Given the description of an element on the screen output the (x, y) to click on. 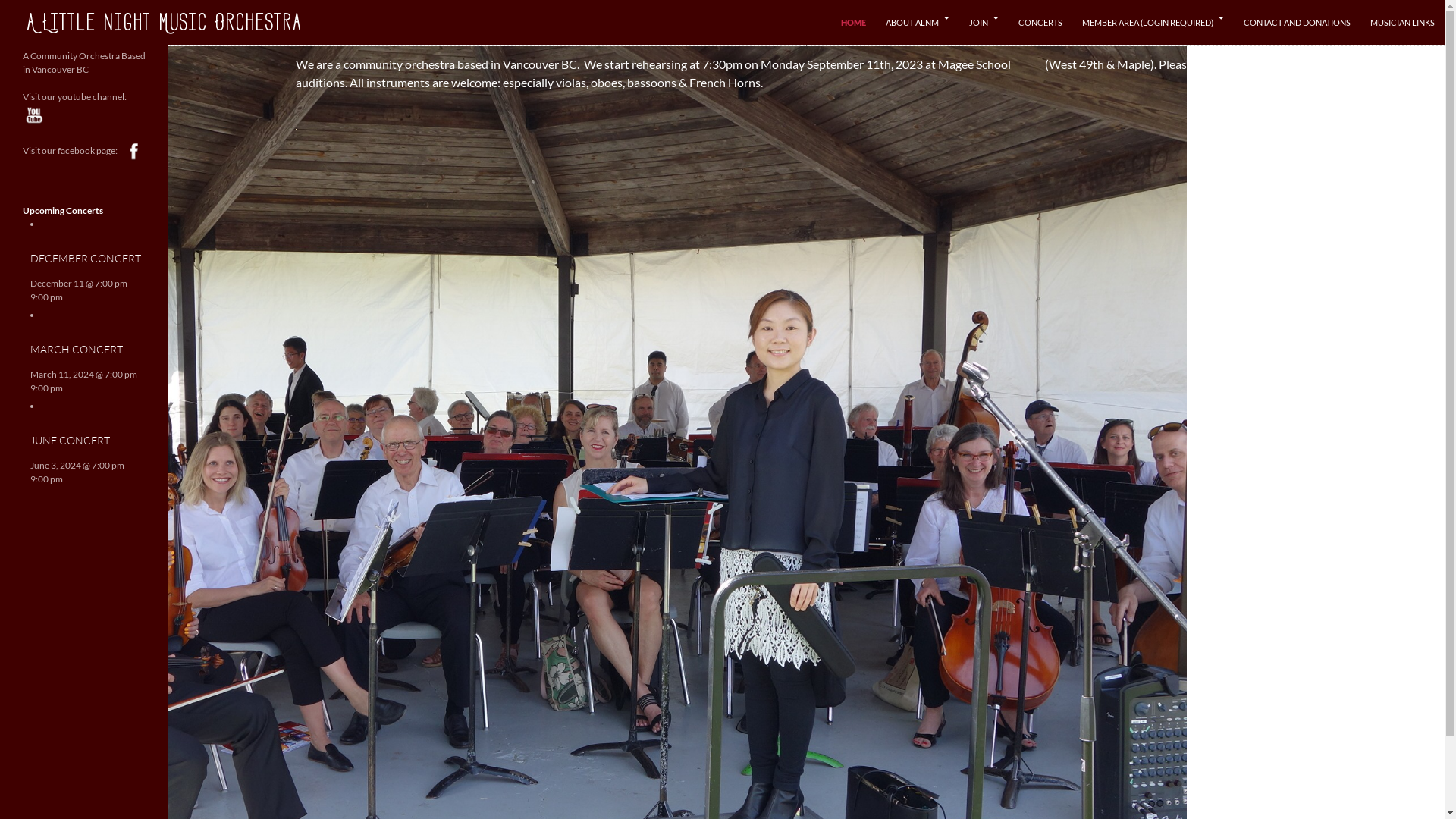
MEMBER AREA (LOGIN REQUIRED) Element type: text (1153, 22)
HOME Element type: text (853, 22)
JUNE CONCERT Element type: text (69, 439)
MUSICIAN LINKS Element type: text (1402, 22)
CONCERTS Element type: text (1040, 22)
CONTACT AND DONATIONS Element type: text (1296, 22)
ABOUT ALNM Element type: text (917, 22)
MARCH CONCERT Element type: text (76, 348)
    


Upcoming Concerts Element type: text (62, 189)
DECEMBER CONCERT Element type: text (85, 257)
JOIN Element type: text (983, 22)
A Little Night Music Orchestra Element type: text (163, 21)
